Given the description of an element on the screen output the (x, y) to click on. 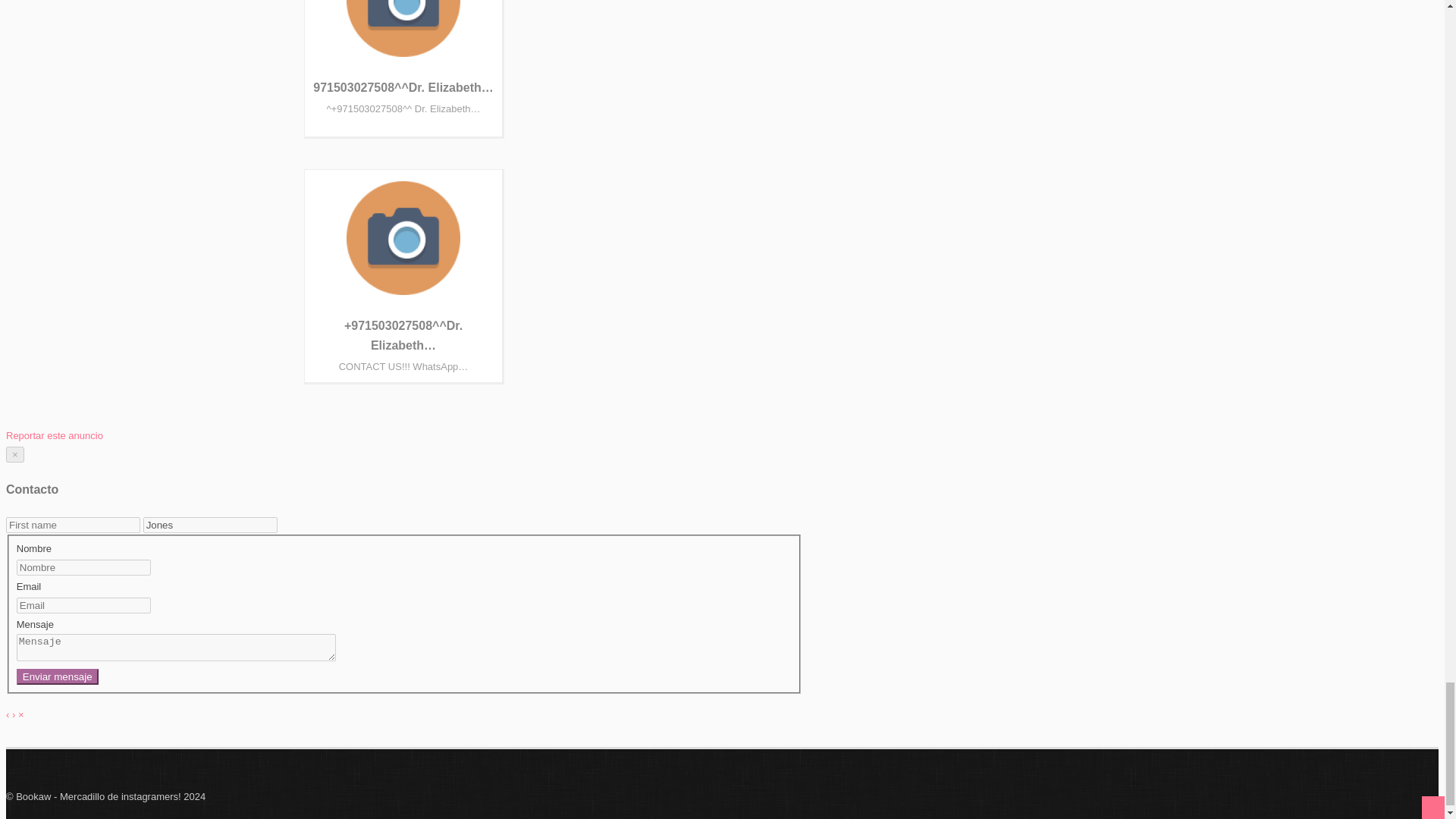
Jones (210, 524)
